Given the description of an element on the screen output the (x, y) to click on. 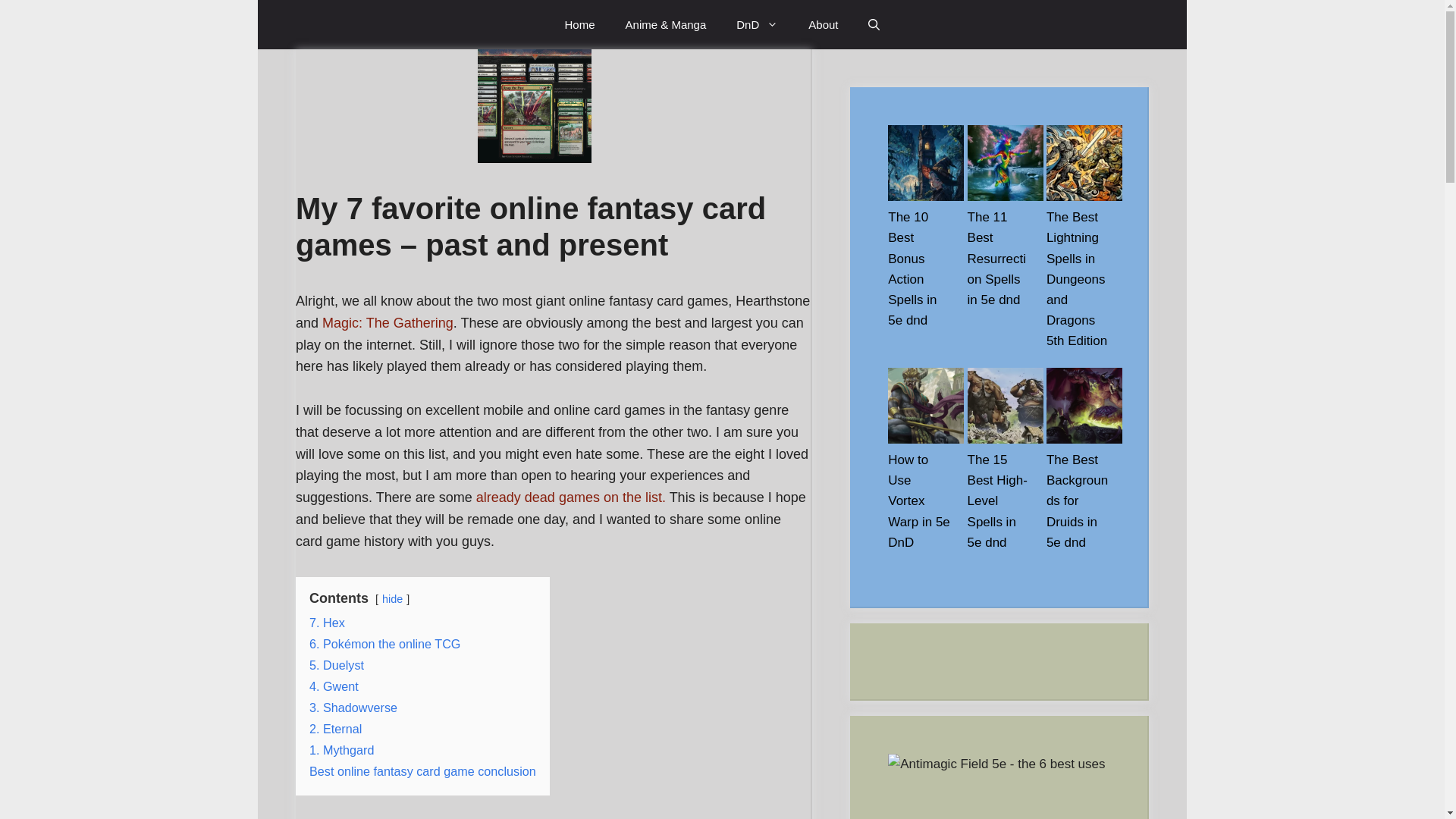
already dead games on the list. (570, 497)
5. Duelyst (336, 664)
DnD (756, 24)
2. Eternal (334, 728)
Home (580, 24)
1. Mythgard (341, 749)
4. Gwent (333, 685)
hide (392, 598)
Best online fantasy card game conclusion (421, 771)
7. Hex (326, 622)
About (823, 24)
3. Shadowverse (352, 707)
Magic: The Gathering (386, 322)
